Given the description of an element on the screen output the (x, y) to click on. 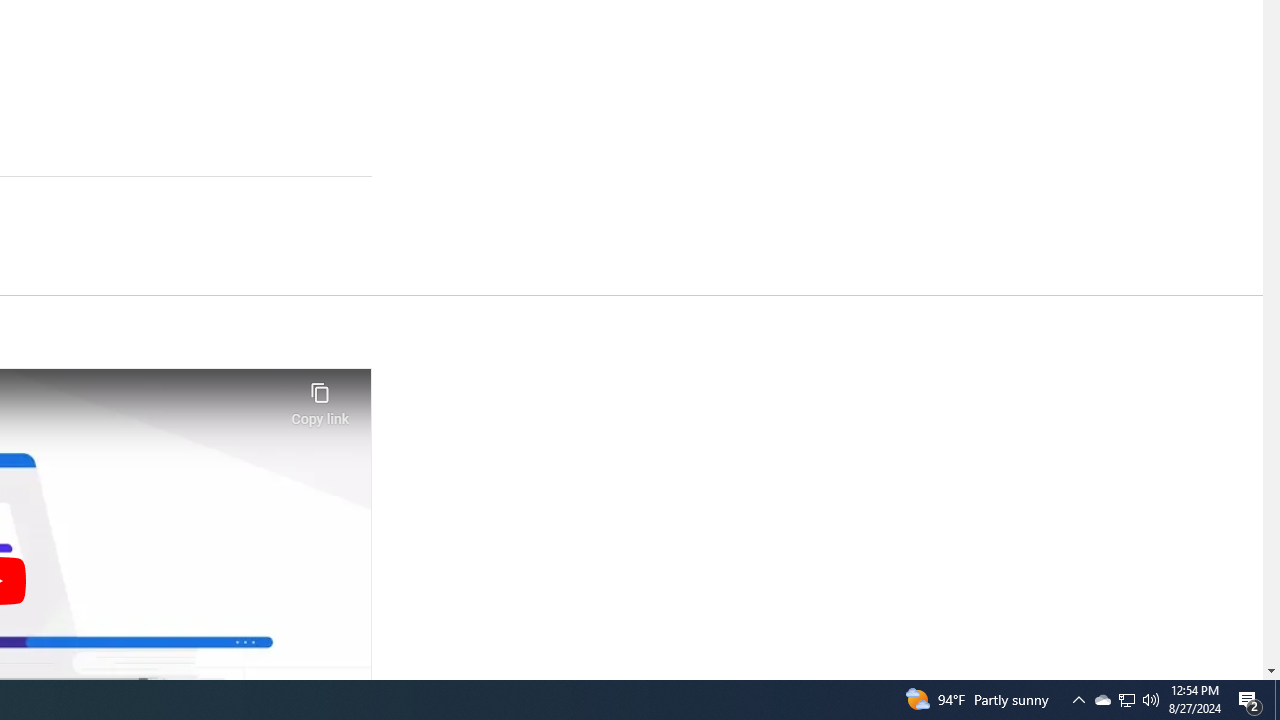
Copy link (319, 398)
